Given the description of an element on the screen output the (x, y) to click on. 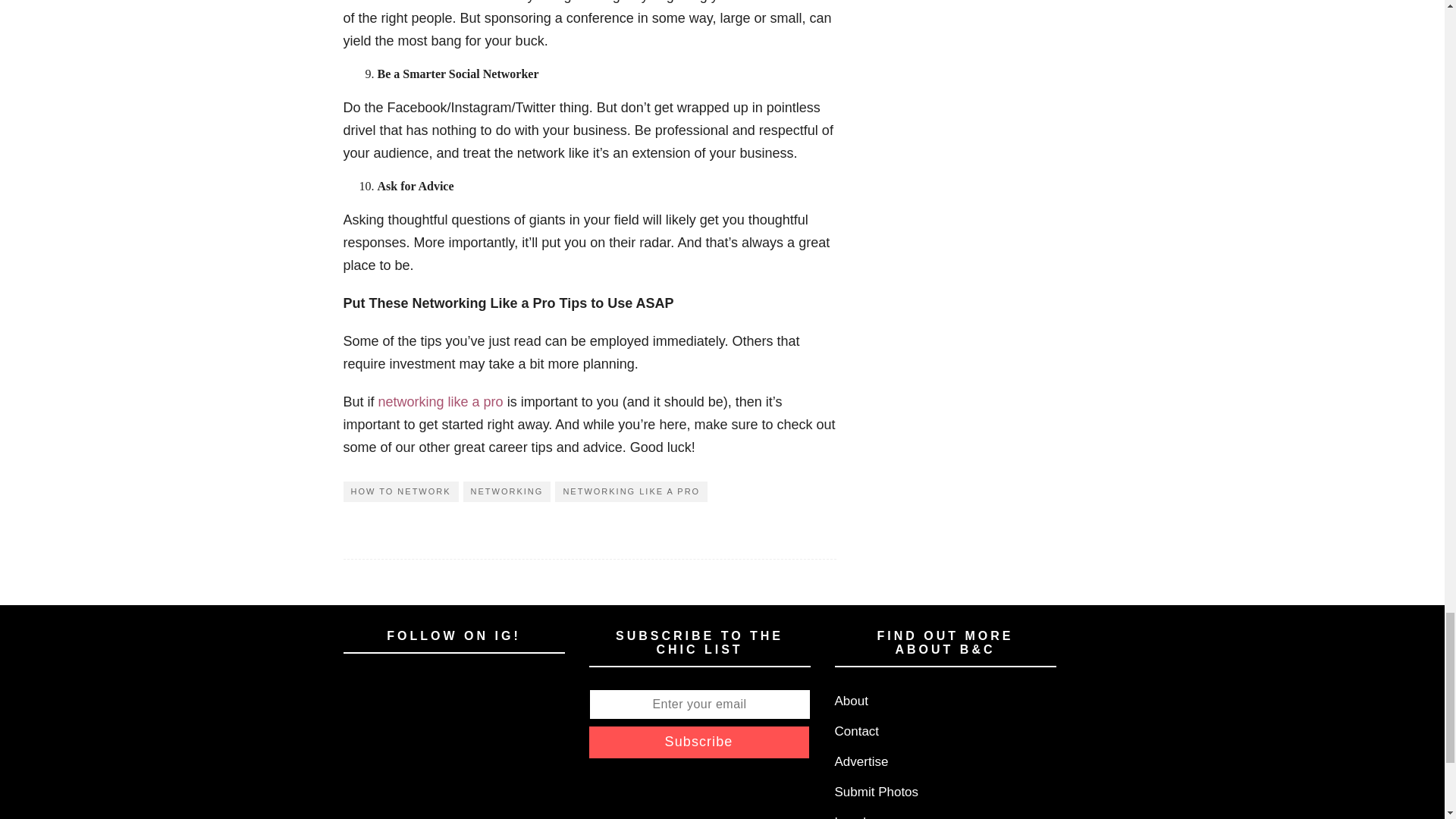
networking like a pro (440, 401)
Subscribe (698, 742)
NETWORKING (507, 491)
NETWORKING LIKE A PRO (630, 491)
HOW TO NETWORK (400, 491)
